Given the description of an element on the screen output the (x, y) to click on. 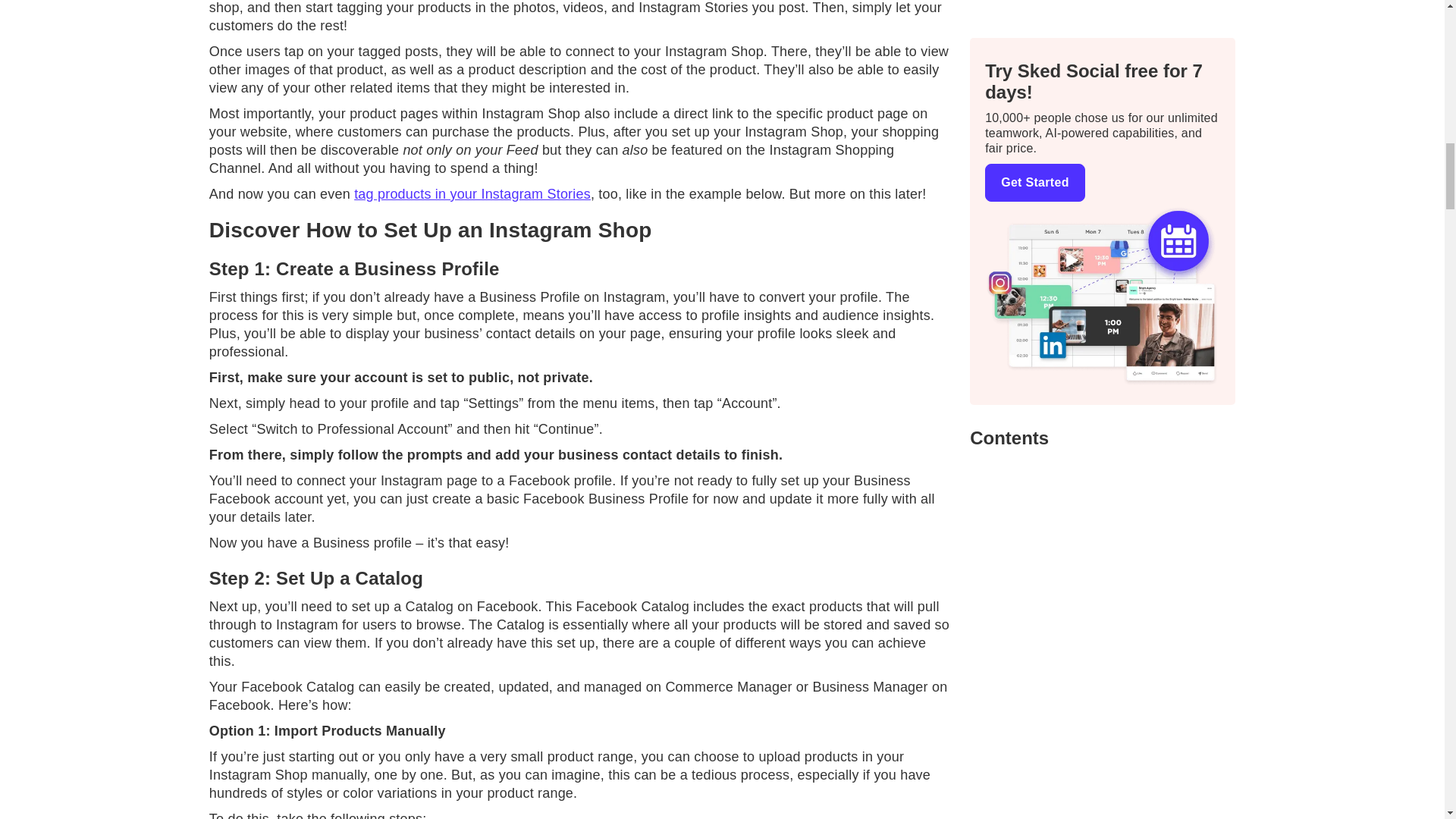
tag products in your Instagram Stories (472, 193)
